Given the description of an element on the screen output the (x, y) to click on. 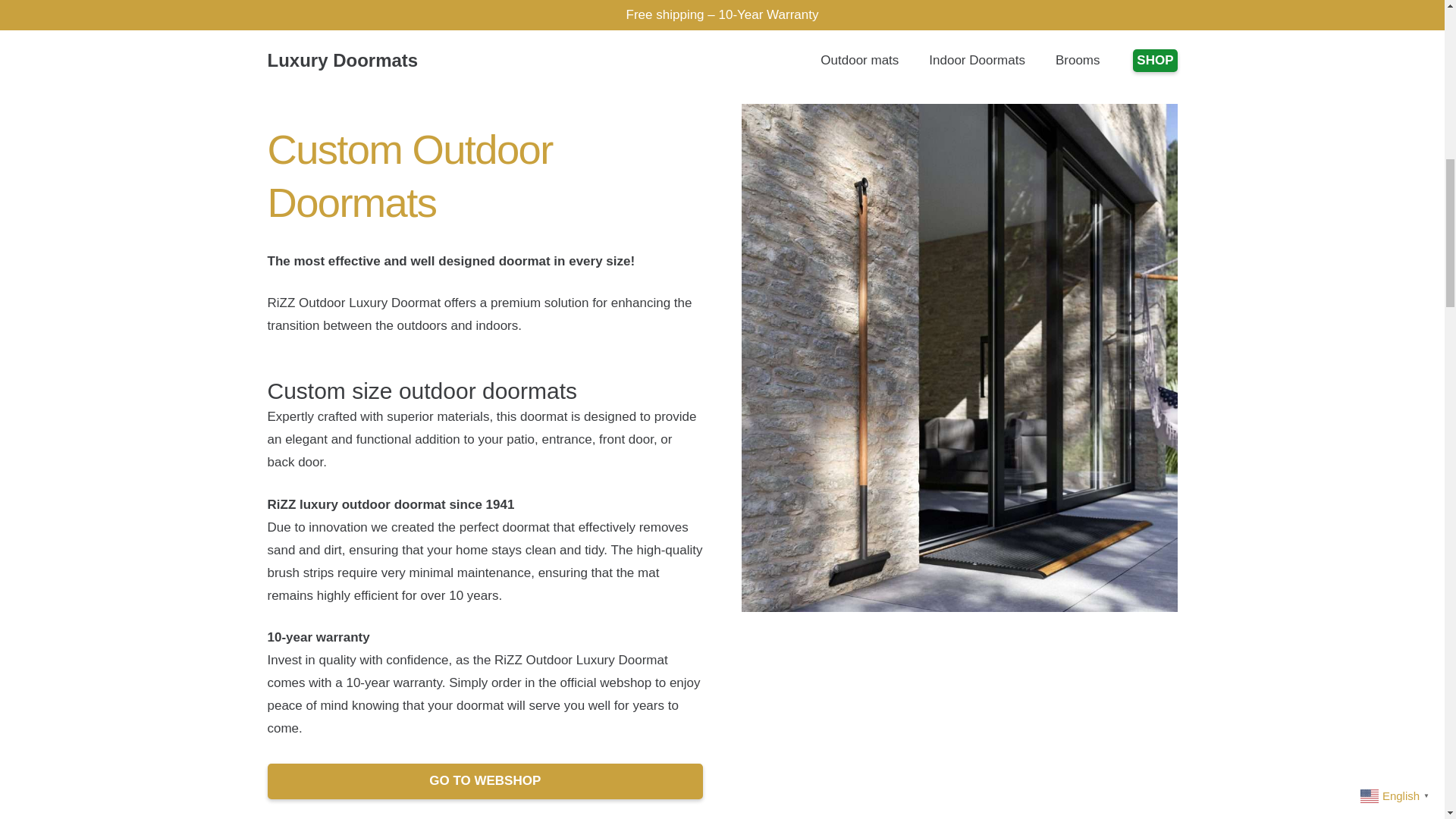
Luxury doormat (484, 781)
Custom Outdoor Doormats (408, 176)
GO TO WEBSHOP (484, 781)
Back to top (1413, 26)
